Given the description of an element on the screen output the (x, y) to click on. 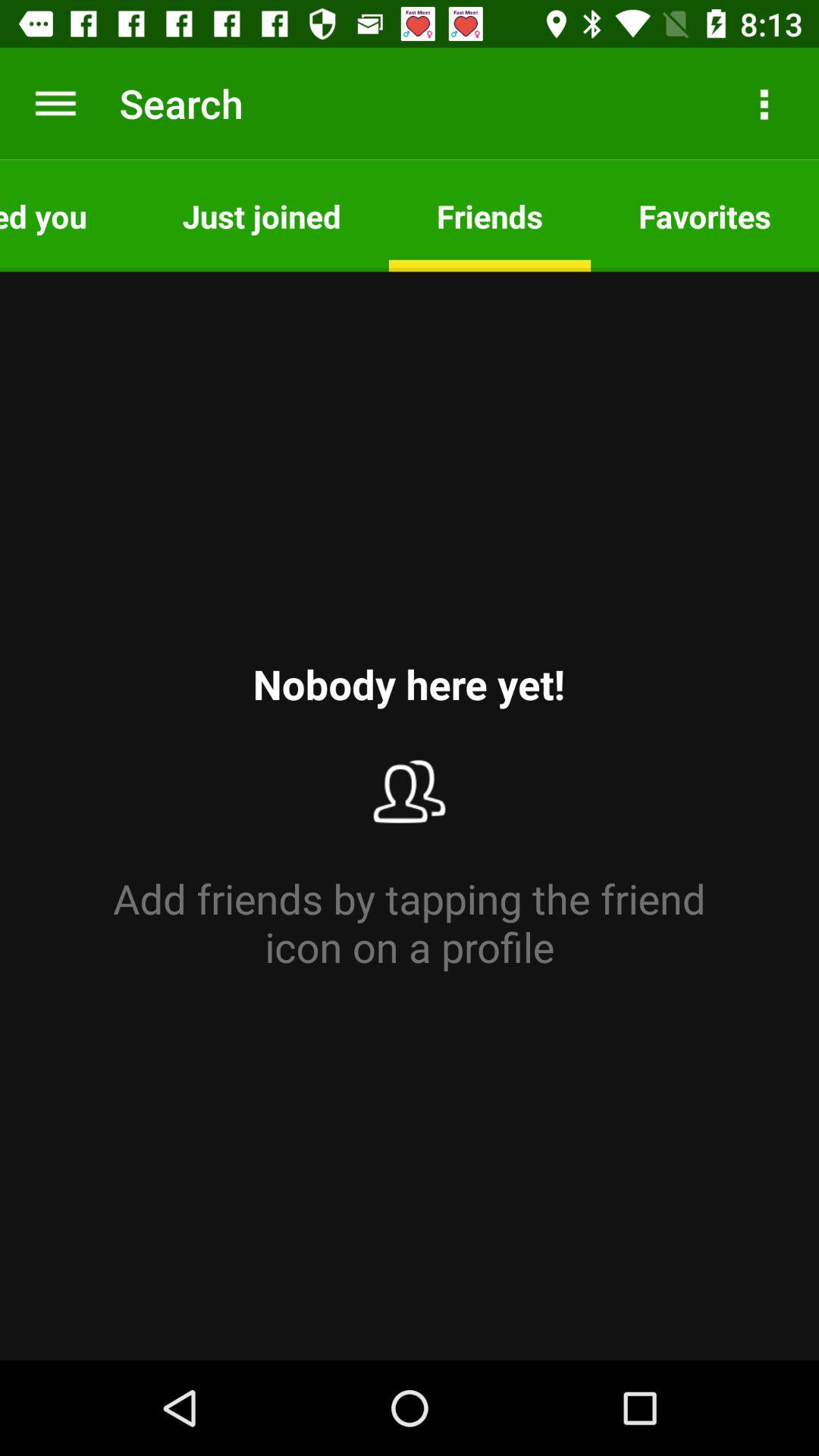
tap favorites app (704, 215)
